Given the description of an element on the screen output the (x, y) to click on. 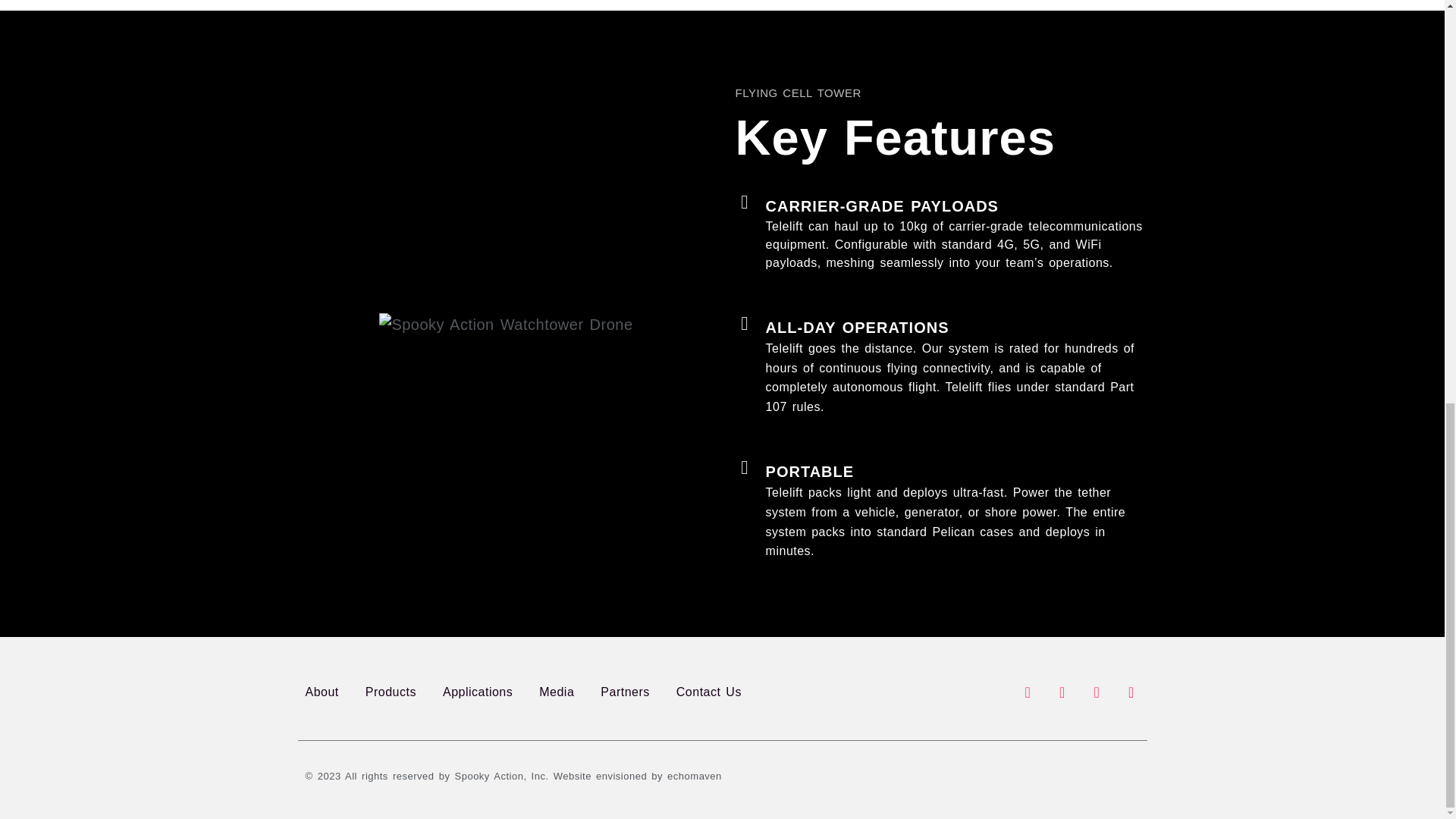
Partners (624, 692)
Media (555, 692)
Applications (477, 692)
Spooky Action Watchtower (504, 323)
About (320, 692)
Contact Us (709, 692)
Products (390, 692)
